Given the description of an element on the screen output the (x, y) to click on. 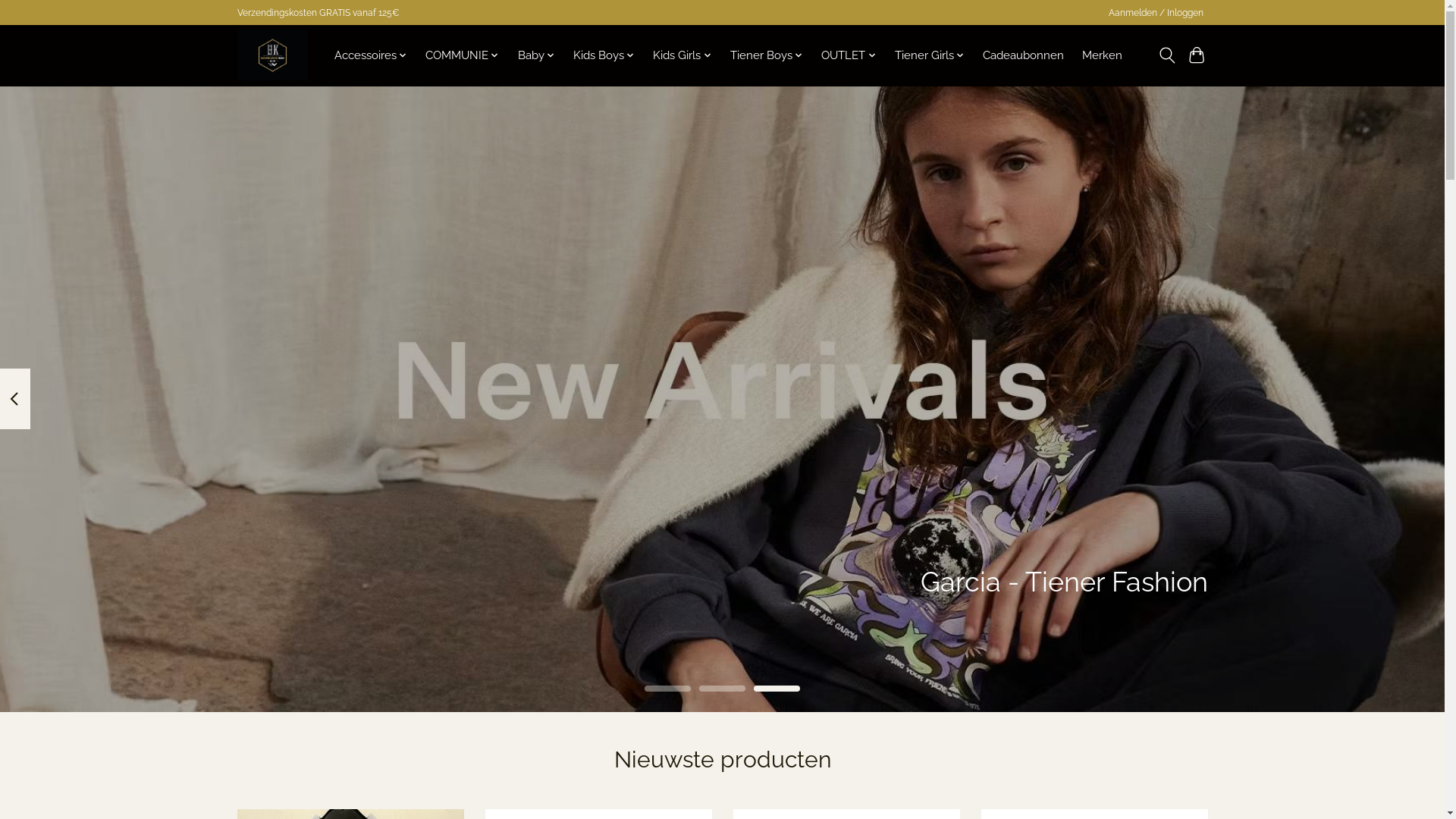
Cadeaubonnen Element type: text (1023, 54)
Baby Element type: text (535, 54)
Kids Girls Element type: text (682, 54)
Kids Boys Element type: text (603, 54)
Merken Element type: text (1101, 54)
COMMUNIE Element type: text (462, 54)
Accessoires Element type: text (370, 54)
OUTLET Element type: text (848, 54)
Boomerang Kids Element type: hover (271, 55)
Tiener Girls Element type: text (929, 54)
Tiener Boys Element type: text (766, 54)
Aanmelden / Inloggen Element type: text (1155, 12)
